Given the description of an element on the screen output the (x, y) to click on. 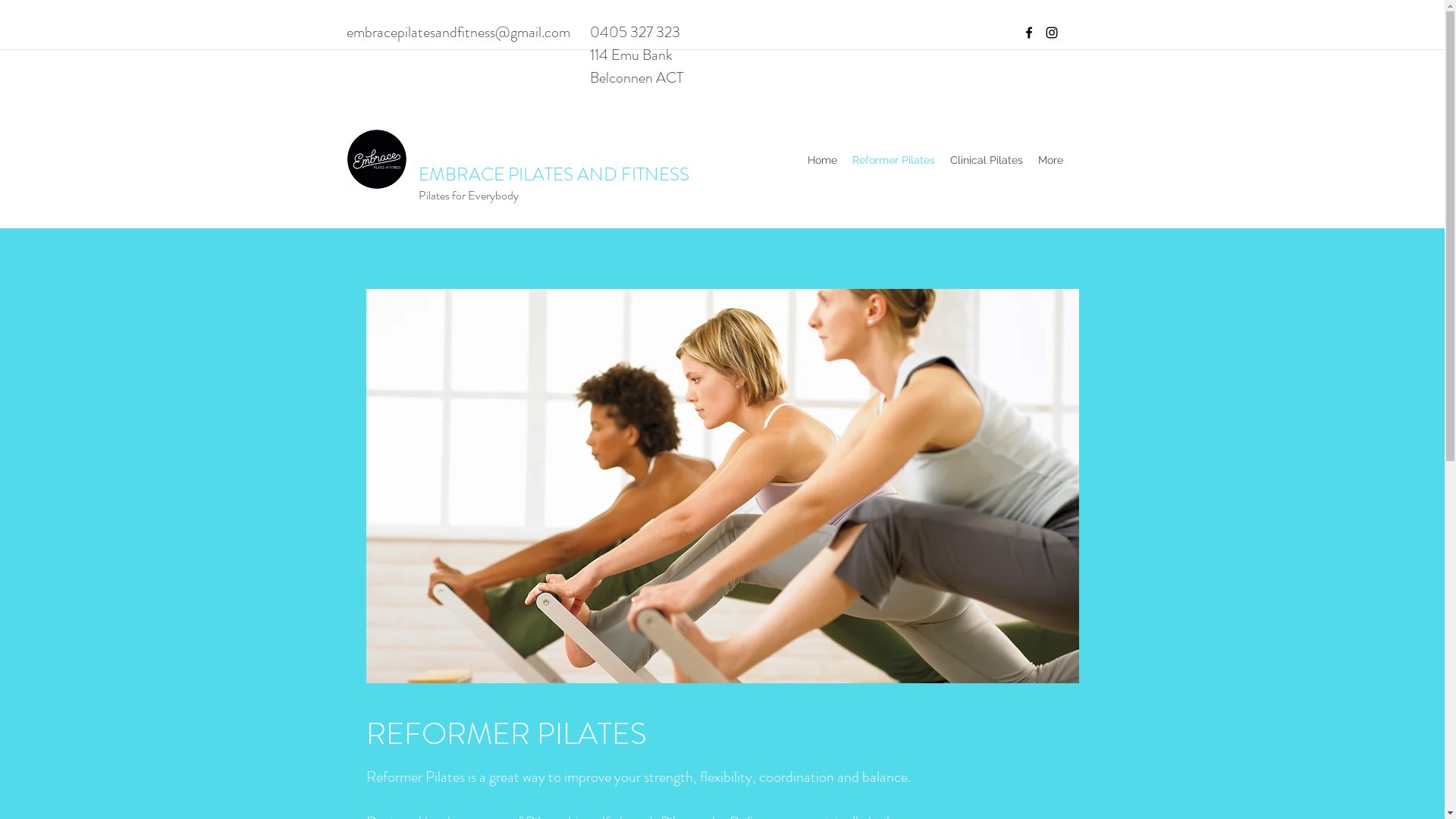
Home Element type: text (821, 159)
SP_Equipment_Group-02.jpg Element type: hover (721, 485)
Untitled Element type: hover (375, 159)
Clinical Pilates Element type: text (985, 159)
embracepilatesandfitness@gmail.com Element type: text (457, 32)
Reformer Pilates Element type: text (893, 159)
